Given the description of an element on the screen output the (x, y) to click on. 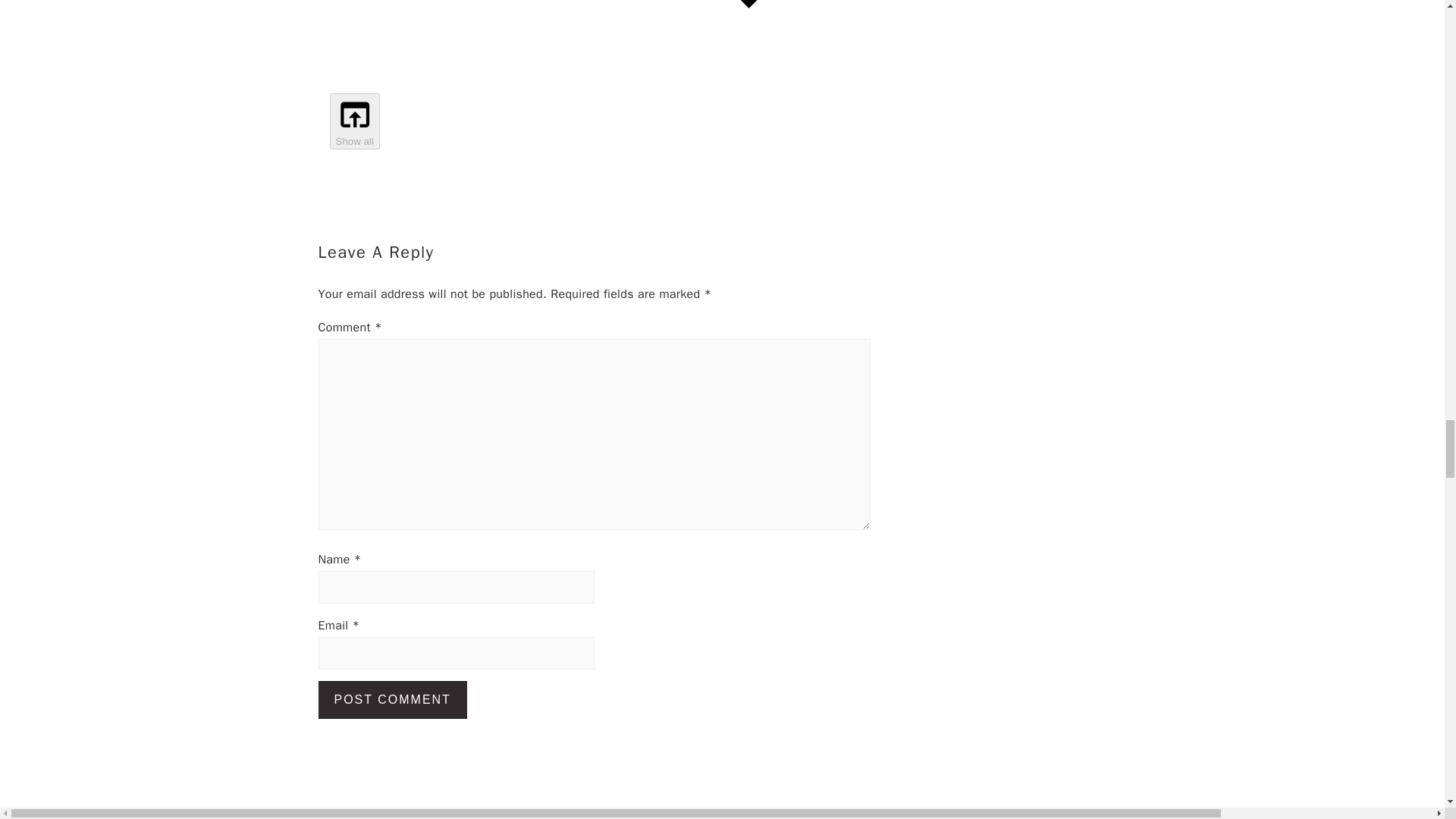
Post Comment (392, 699)
